Given the description of an element on the screen output the (x, y) to click on. 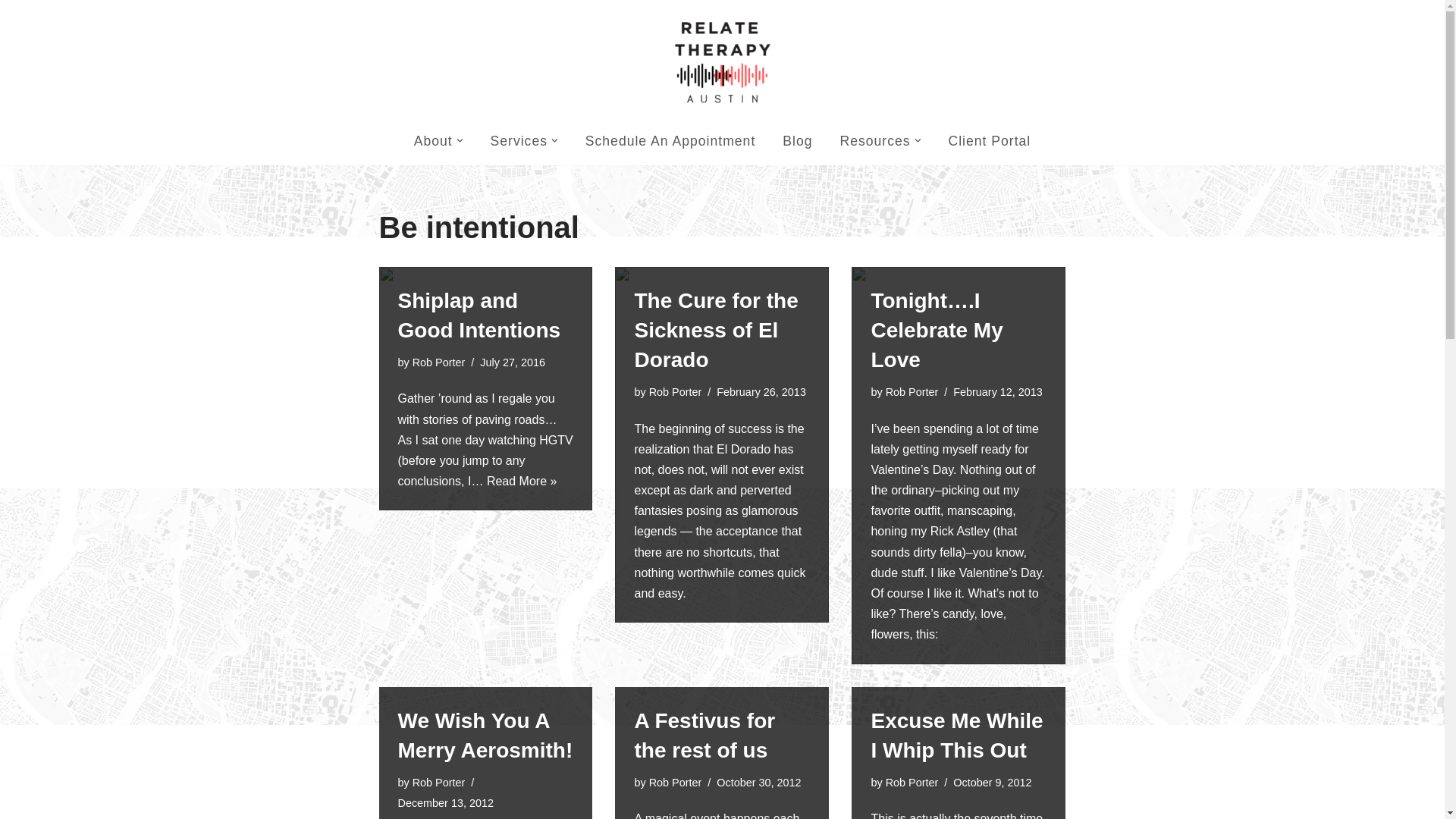
Client Portal (988, 140)
Posts by Rob Porter (438, 782)
Schedule An Appointment (670, 140)
Posts by Rob Porter (912, 782)
About (432, 140)
Posts by Rob Porter (438, 362)
Posts by Rob Porter (675, 391)
Blog (797, 140)
Posts by Rob Porter (675, 782)
Services (518, 140)
